Given the description of an element on the screen output the (x, y) to click on. 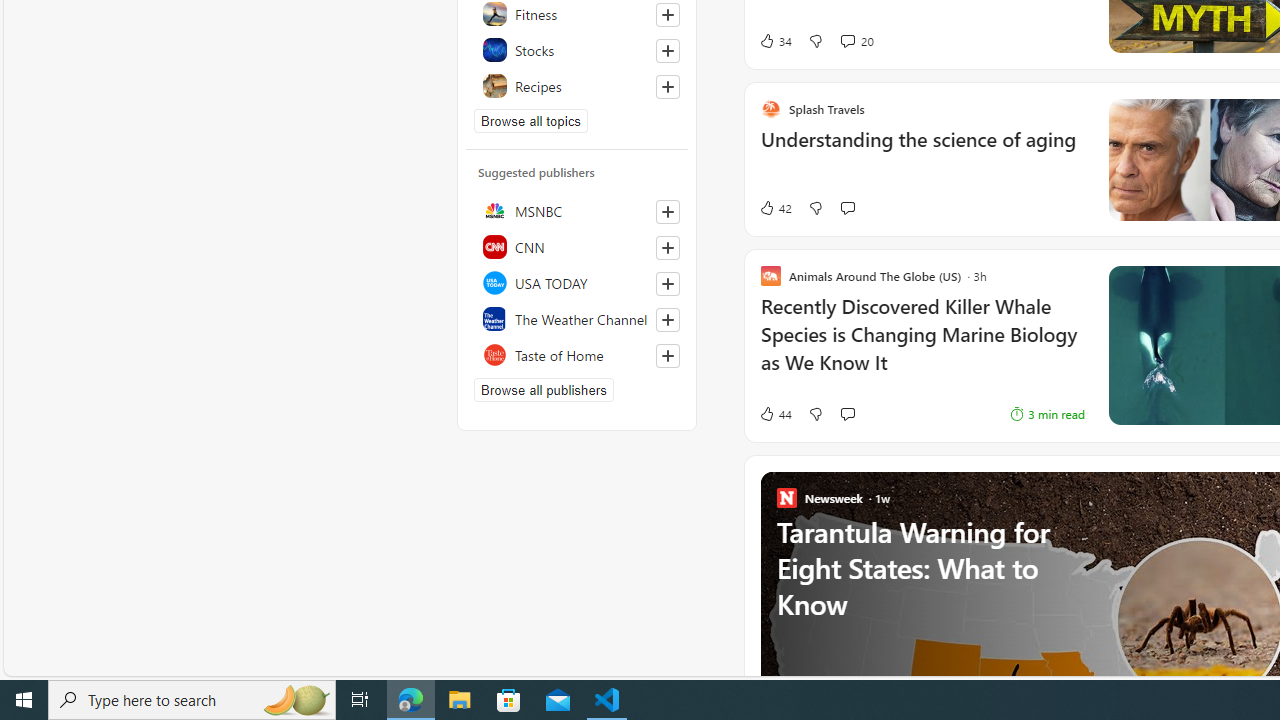
44 Like (753, 413)
Understanding the science of aging (900, 149)
Follow this source (667, 355)
Follow this topic (667, 86)
CNN (577, 246)
Browse all publishers (543, 389)
Browse all topics (530, 120)
34 Like (775, 40)
Follow this source (667, 355)
